Given the description of an element on the screen output the (x, y) to click on. 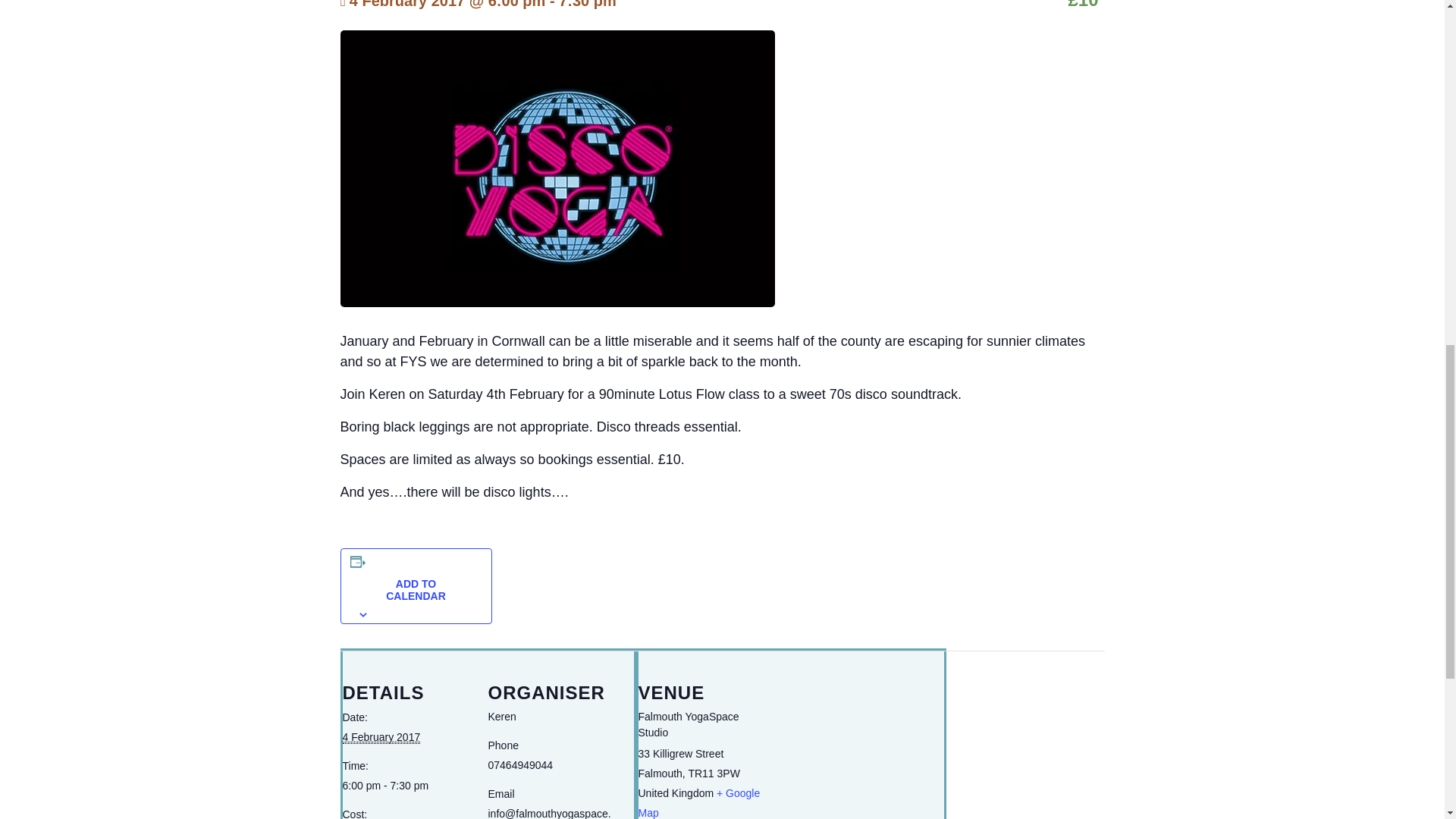
Click to view a Google Map (699, 803)
ADD TO CALENDAR (415, 589)
2017-02-04 (406, 785)
2017-02-04 (381, 737)
